Given the description of an element on the screen output the (x, y) to click on. 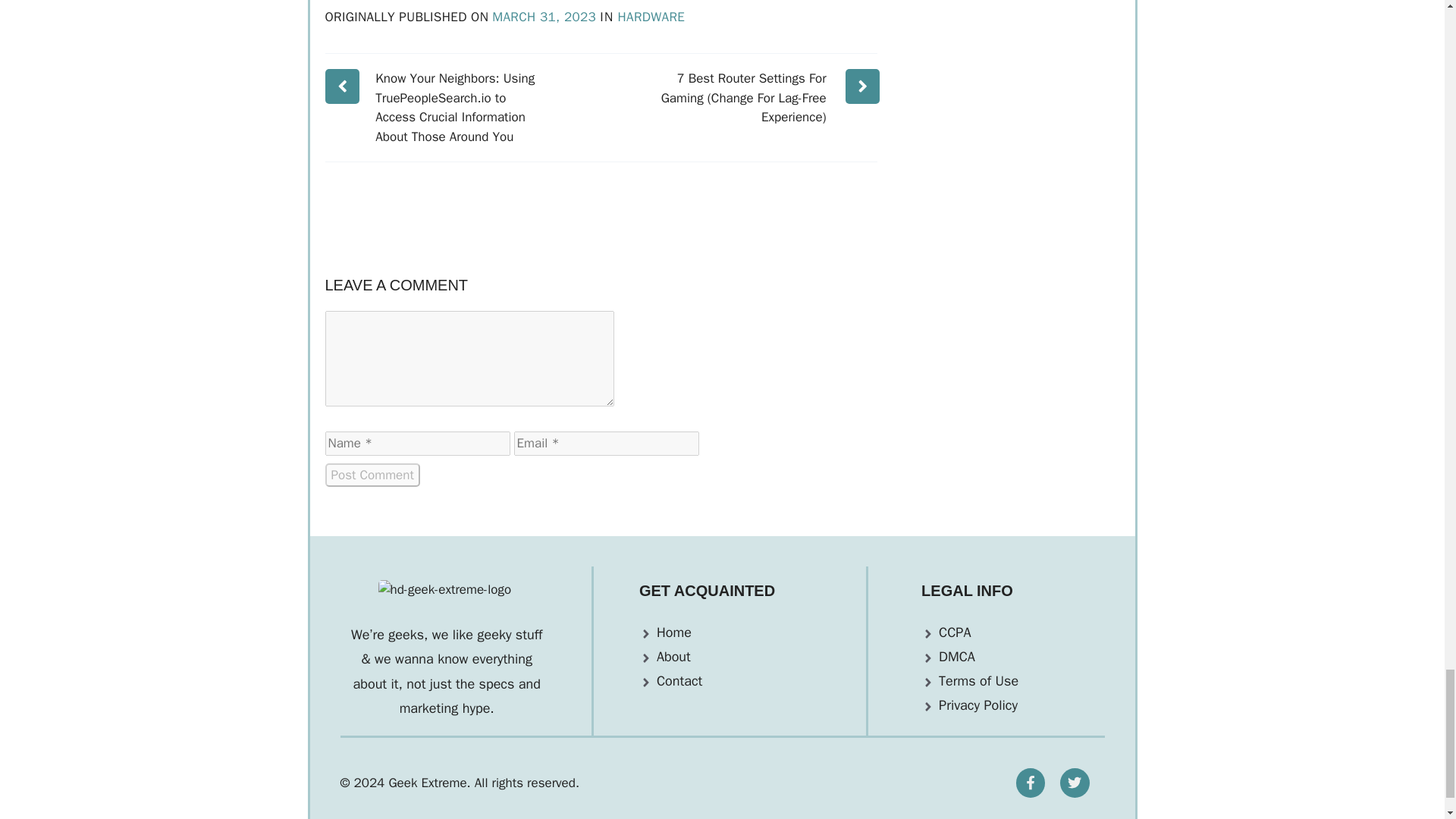
Post Comment (371, 475)
